Given the description of an element on the screen output the (x, y) to click on. 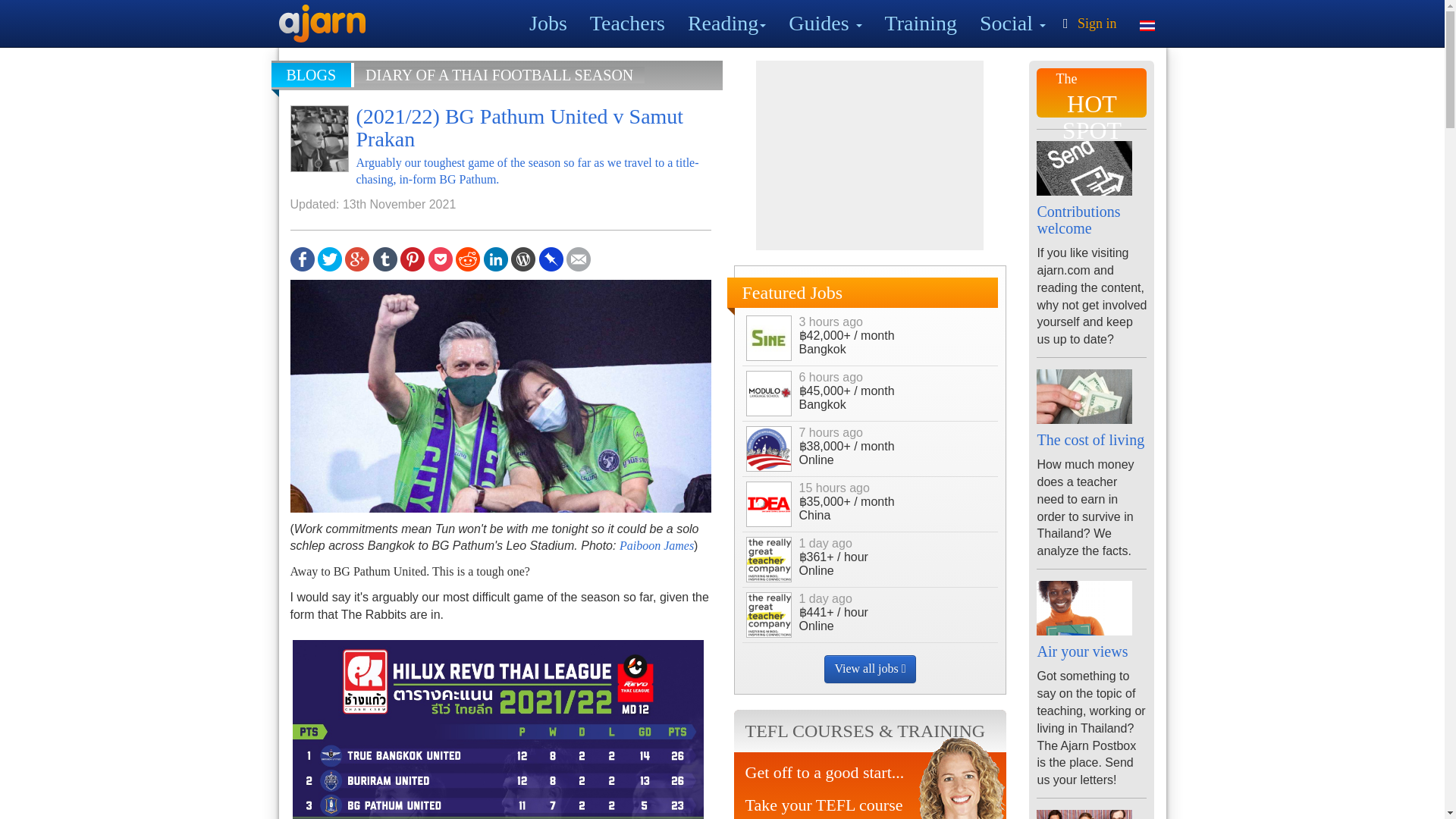
Guides (824, 23)
Social (1012, 23)
DIARY OF A THAI FOOTBALL SEASON (499, 74)
Add to Pocket (440, 257)
Jobs (548, 23)
Share on Facebook (301, 257)
Pin it (412, 257)
Publish on WordPress (523, 257)
Sign in (1086, 23)
Training (920, 23)
